Given the description of an element on the screen output the (x, y) to click on. 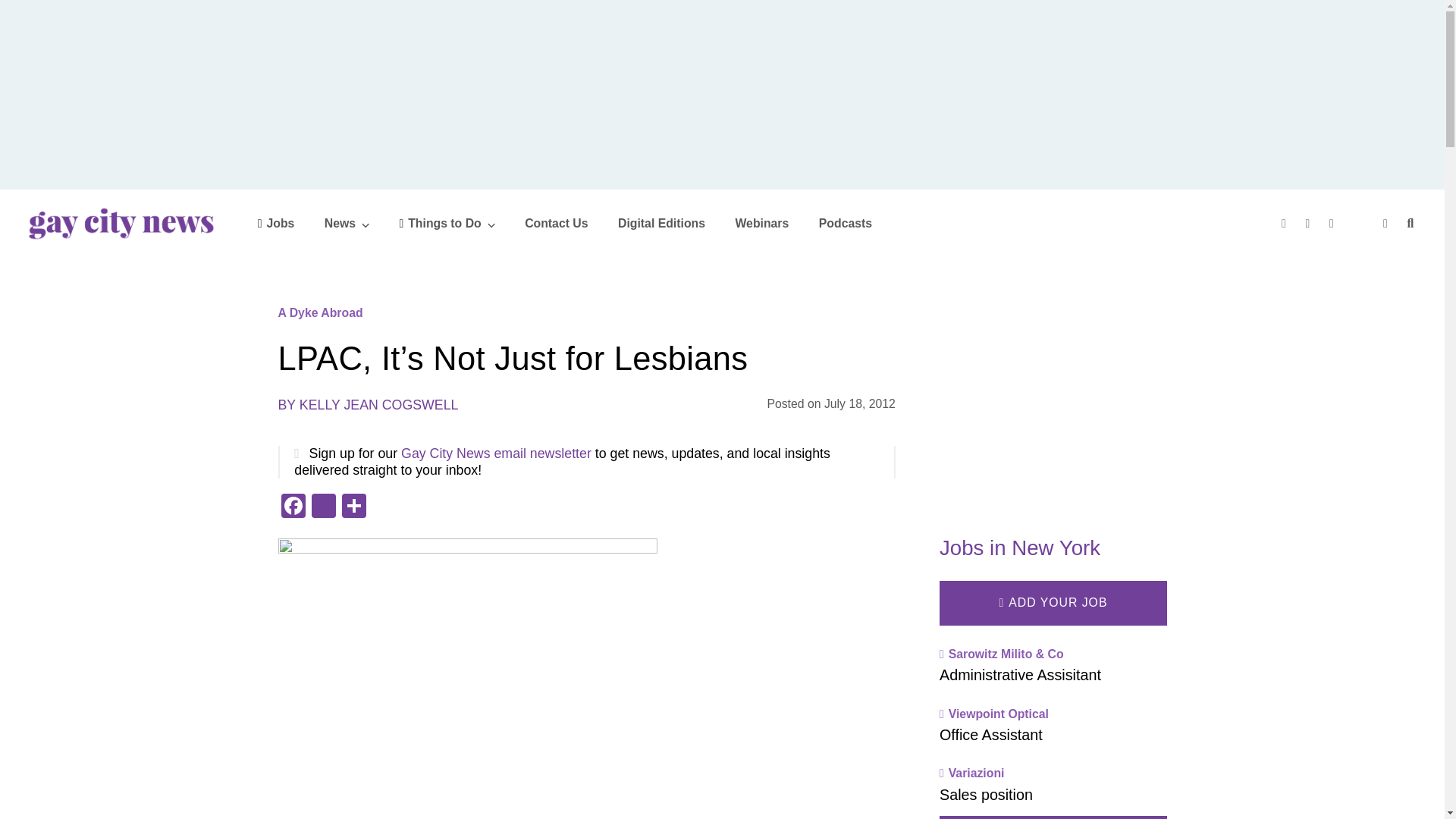
Facebook (292, 507)
Webinars (762, 223)
Jobs (276, 223)
Contact Us (556, 223)
Podcasts (845, 223)
Things to Do (446, 223)
Twitter (322, 507)
sarah schmidtIS (467, 676)
Digital Editions (660, 223)
News (346, 223)
